Given the description of an element on the screen output the (x, y) to click on. 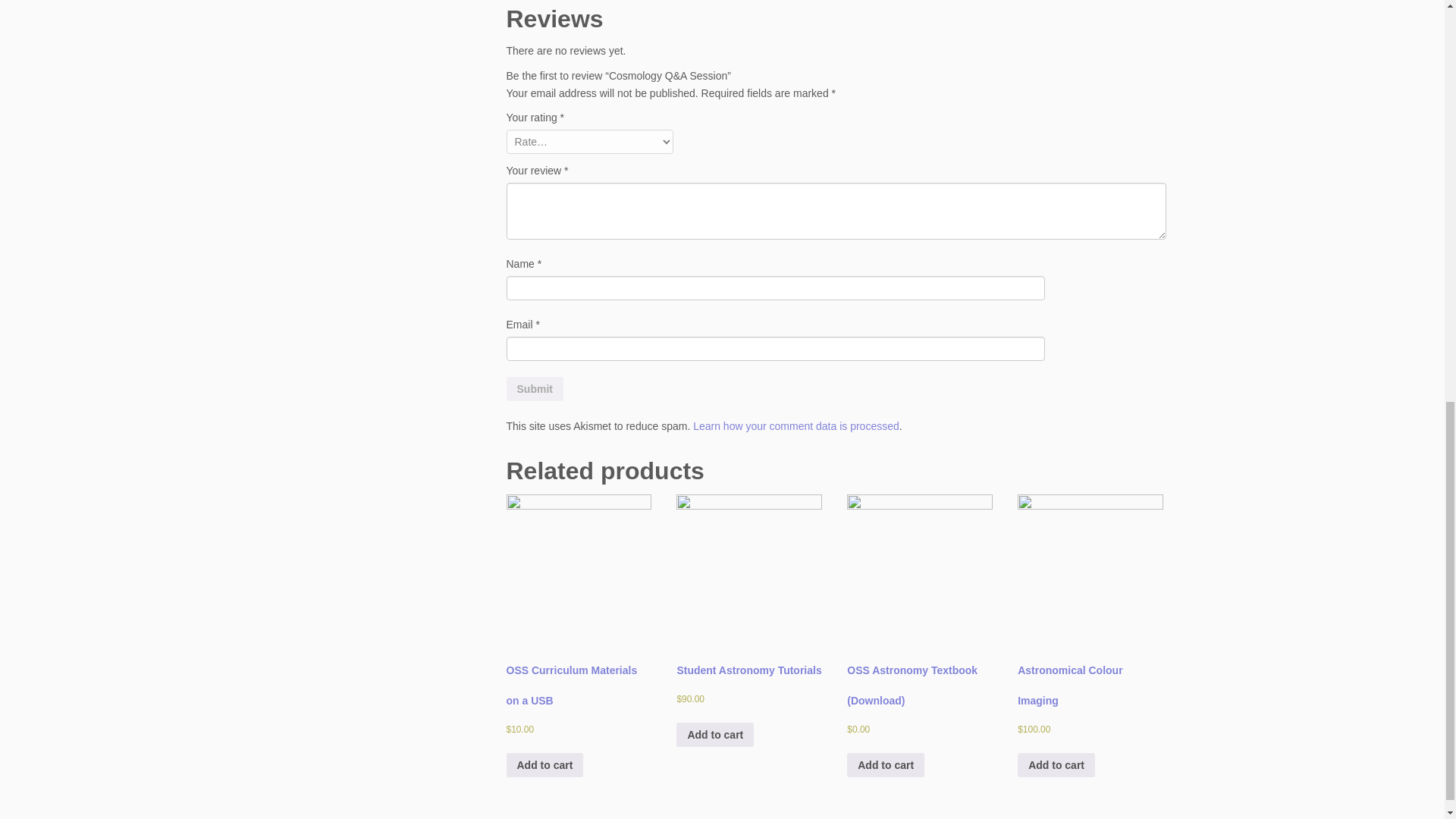
Add to cart (544, 764)
Submit (534, 388)
Learn how your comment data is processed (796, 426)
Submit (534, 388)
